Given the description of an element on the screen output the (x, y) to click on. 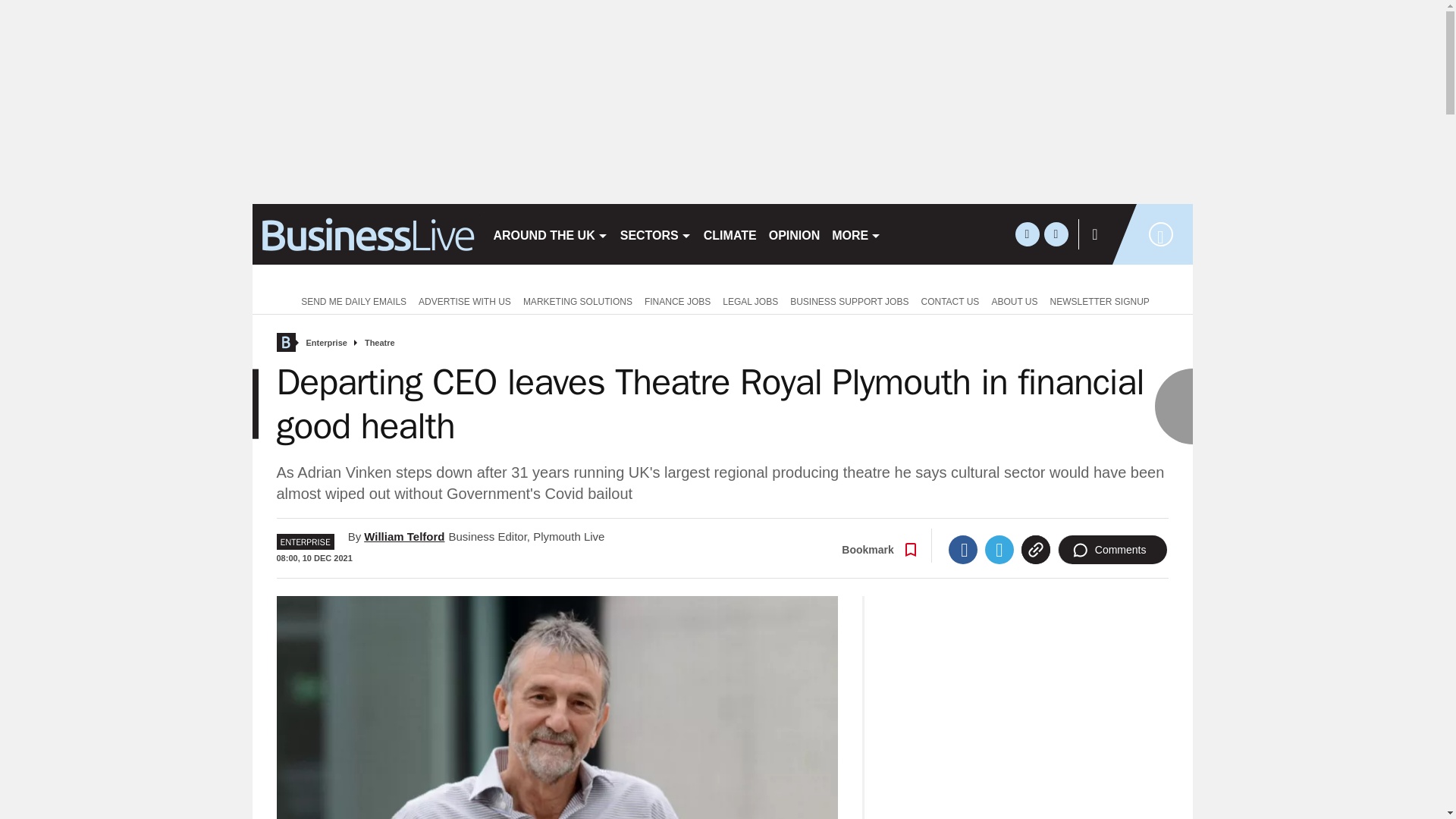
Comments (1112, 549)
Facebook (962, 549)
AROUND THE UK (549, 233)
CLIMATE (729, 233)
MARKETING SOLUTIONS (577, 300)
Twitter (999, 549)
FINANCE JOBS (677, 300)
ADVERTISE WITH US (464, 300)
SEND ME DAILY EMAILS (350, 300)
birminghampost (365, 233)
MORE (855, 233)
linkedin (1055, 233)
LEGAL JOBS (750, 300)
twitter (1026, 233)
OPINION (794, 233)
